Given the description of an element on the screen output the (x, y) to click on. 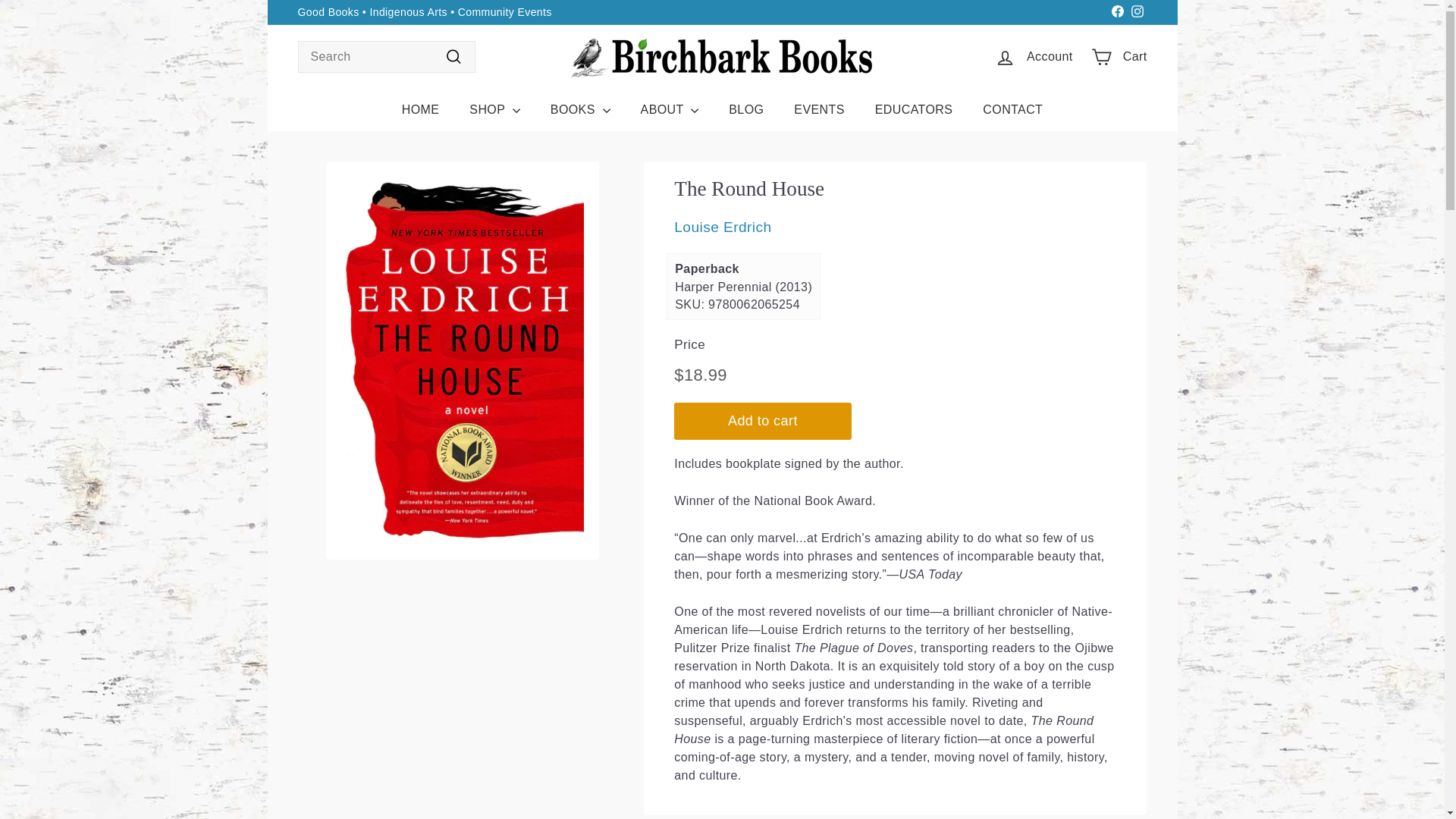
instagram (1136, 10)
Cart (1118, 57)
Account (1033, 57)
HOME (420, 109)
